Given the description of an element on the screen output the (x, y) to click on. 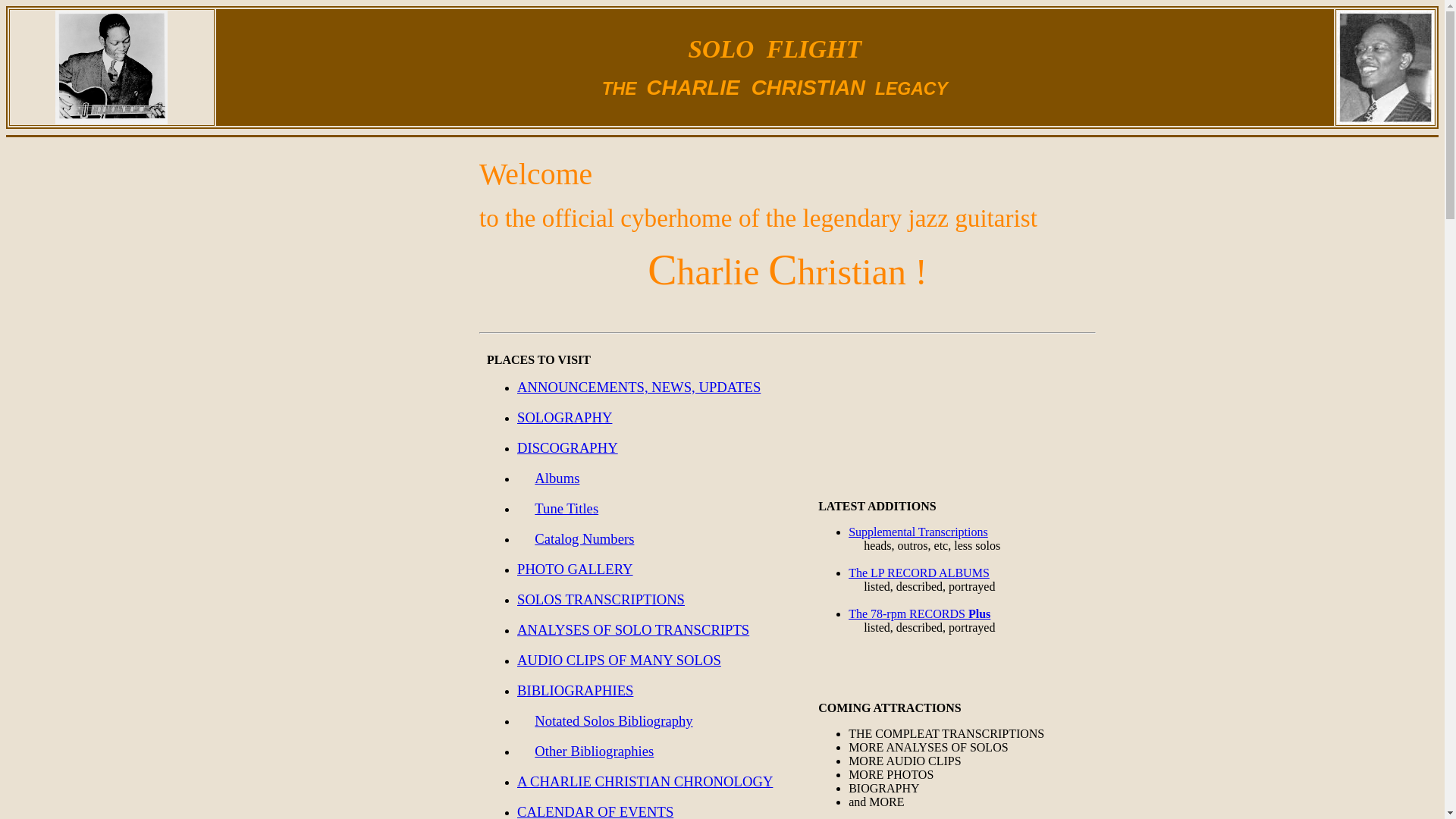
DISCOGRAPHY Element type: text (567, 448)
Supplemental Transcriptions Element type: text (918, 531)
BIBLIOGRAPHIES Element type: text (575, 690)
The LP RECORD ALBUMS Element type: text (918, 572)
Notated Solos Bibliography Element type: text (613, 721)
A CHARLIE CHRISTIAN CHRONOLOGY Element type: text (644, 781)
Albums Element type: text (556, 478)
PHOTO GALLERY Element type: text (575, 569)
Catalog Numbers Element type: text (583, 539)
Tune Titles Element type: text (566, 508)
AUDIO CLIPS OF MANY SOLOS Element type: text (619, 660)
Other Bibliographies Element type: text (593, 751)
ANNOUNCEMENTS, NEWS, UPDATES Element type: text (638, 387)
SOLOS TRANSCRIPTIONS Element type: text (600, 599)
ANALYSES OF SOLO TRANSCRIPTS Element type: text (633, 630)
SOLOGRAPHY Element type: text (564, 417)
The 78-rpm RECORDS Plus Element type: text (919, 613)
